Given the description of an element on the screen output the (x, y) to click on. 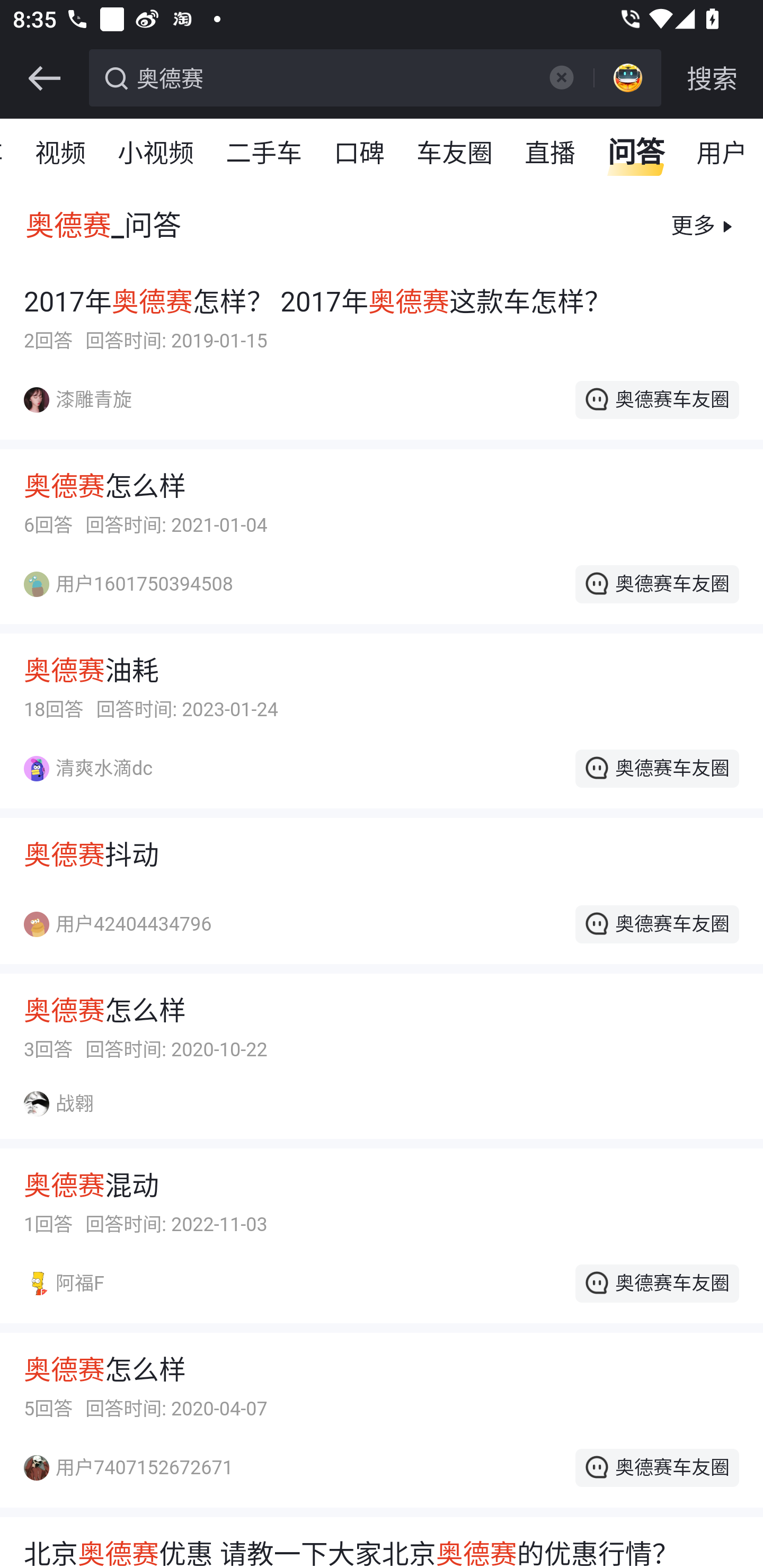
奥德赛 (331, 76)
 (560, 77)
 (44, 78)
搜索 (711, 78)
视频 (61, 153)
小视频 (156, 153)
二手车 (264, 153)
口碑 (360, 153)
车友圈 (455, 153)
直播 (550, 153)
问答 (636, 153)
用户 (721, 153)
更多 (690, 226)
奥德赛车友圈 (656, 399)
漆雕青旋 (87, 399)
奥德赛 怎么样 6回答回答时间: 2021-01-04 用户1601750394508 奥德赛车友圈 (381, 550)
奥德赛车友圈 (656, 583)
用户1601750394508 (137, 584)
奥德赛 油耗 18回答回答时间: 2023-01-24 清爽水滴dc 奥德赛车友圈 (381, 734)
奥德赛车友圈 (656, 768)
清爽水滴dc (98, 768)
奥德赛 抖动 用户42404434796 奥德赛车友圈 (381, 904)
奥德赛车友圈 (656, 923)
用户42404434796 (127, 924)
奥德赛 怎么样 3回答回答时间: 2020-10-22 战翱 (381, 1068)
战翱 (68, 1103)
奥德赛 混动 1回答回答时间: 2022-11-03 阿福F 奥德赛车友圈 (381, 1249)
奥德赛车友圈 (656, 1283)
阿福F (73, 1283)
奥德赛 怎么样 5回答回答时间: 2020-04-07 用户7407152672671 奥德赛车友圈 (381, 1433)
奥德赛车友圈 (656, 1467)
用户7407152672671 (137, 1467)
北京 奥德赛 优惠 请教一下大家北京 奥德赛 的优惠行情？ (381, 1551)
